Given the description of an element on the screen output the (x, y) to click on. 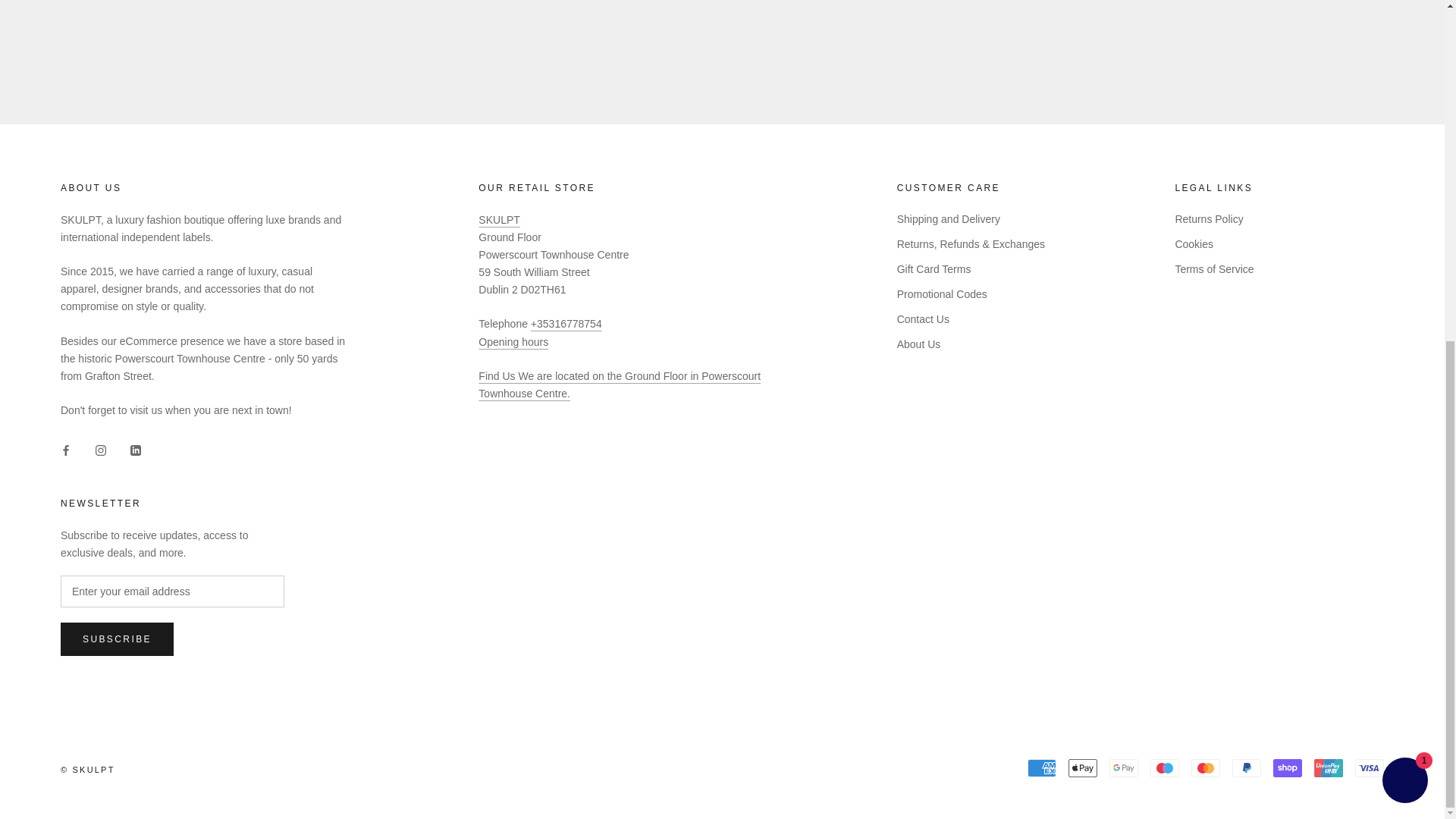
Union Pay (1328, 768)
Apple Pay (1082, 768)
Shopify online store chat (1404, 201)
Shop Pay (1286, 768)
Contact Us (513, 341)
American Express (1042, 768)
tel:35316778754 (566, 323)
PayPal (1245, 768)
Contact Us (619, 384)
Mastercard (1205, 768)
Maestro (1164, 768)
Visa (1369, 768)
Google Pay (1123, 768)
